Given the description of an element on the screen output the (x, y) to click on. 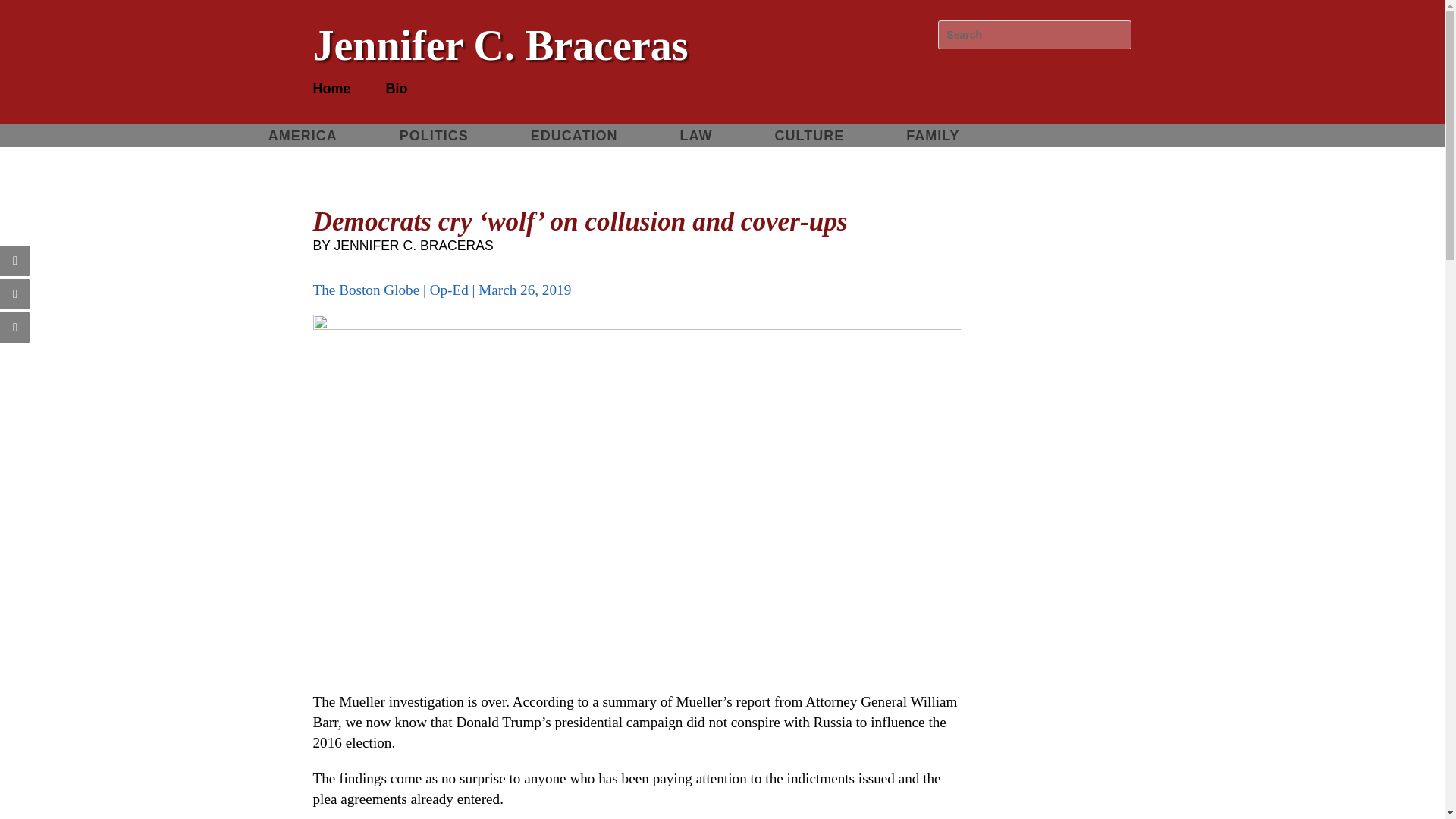
CULTURE (809, 138)
POLITICS (434, 138)
Search (24, 13)
Home (331, 91)
EDUCATION (574, 138)
Posts by Jennifer C. Braceras (413, 245)
Bio (396, 91)
LAW (696, 138)
AMERICA (302, 138)
FAMILY (932, 138)
